Given the description of an element on the screen output the (x, y) to click on. 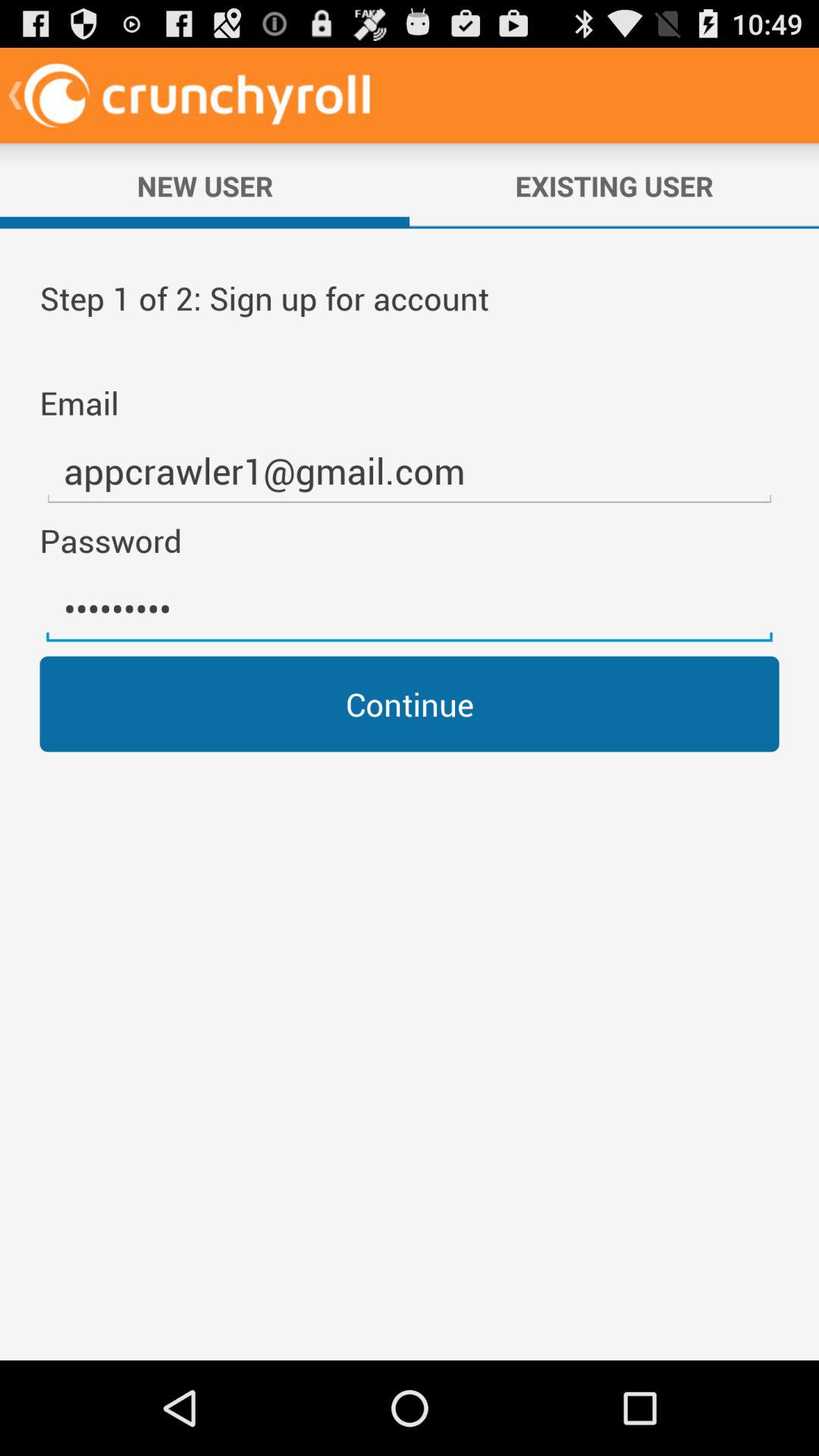
open the new user icon (204, 185)
